Given the description of an element on the screen output the (x, y) to click on. 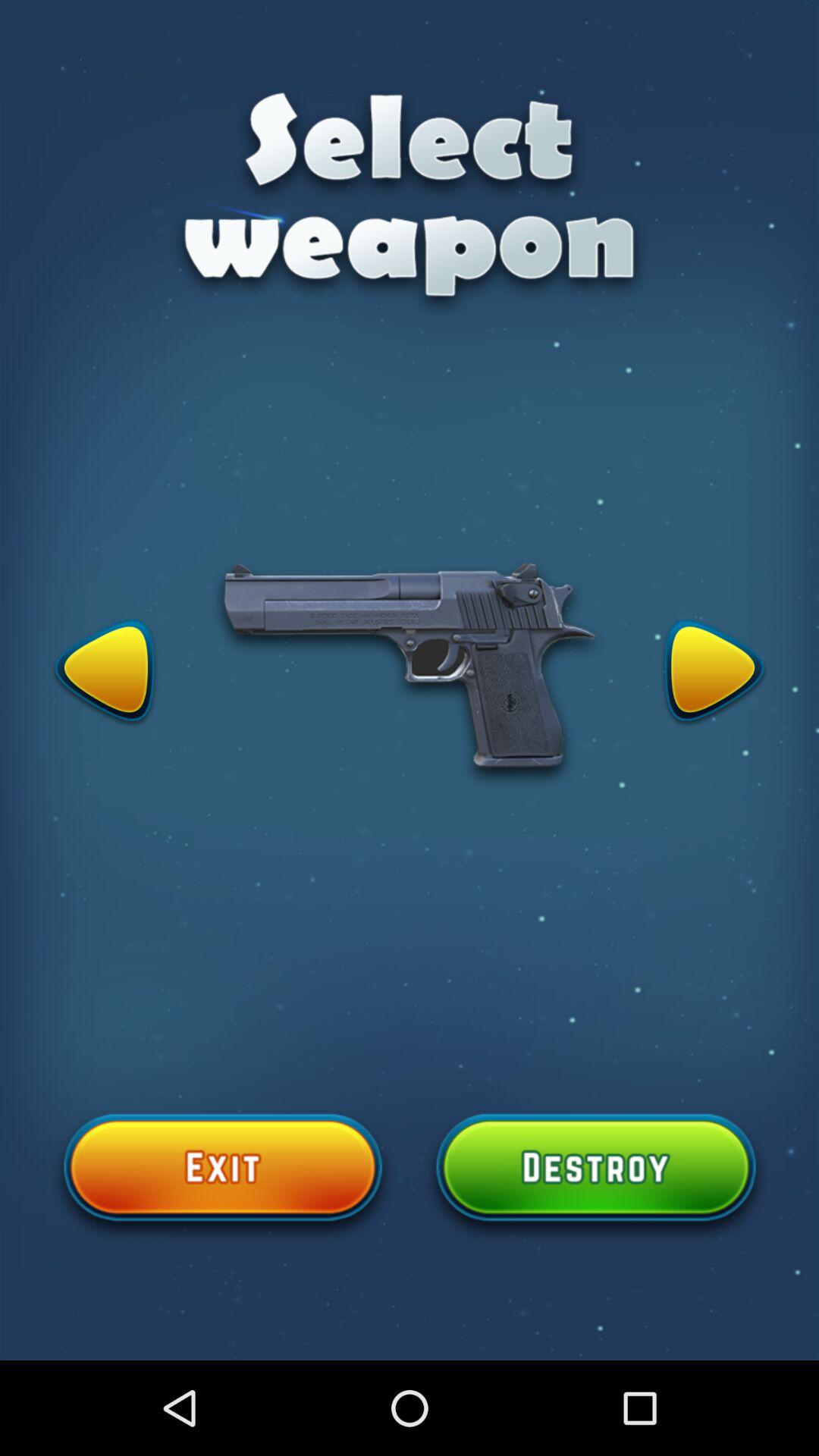
destroy button (595, 1176)
